Given the description of an element on the screen output the (x, y) to click on. 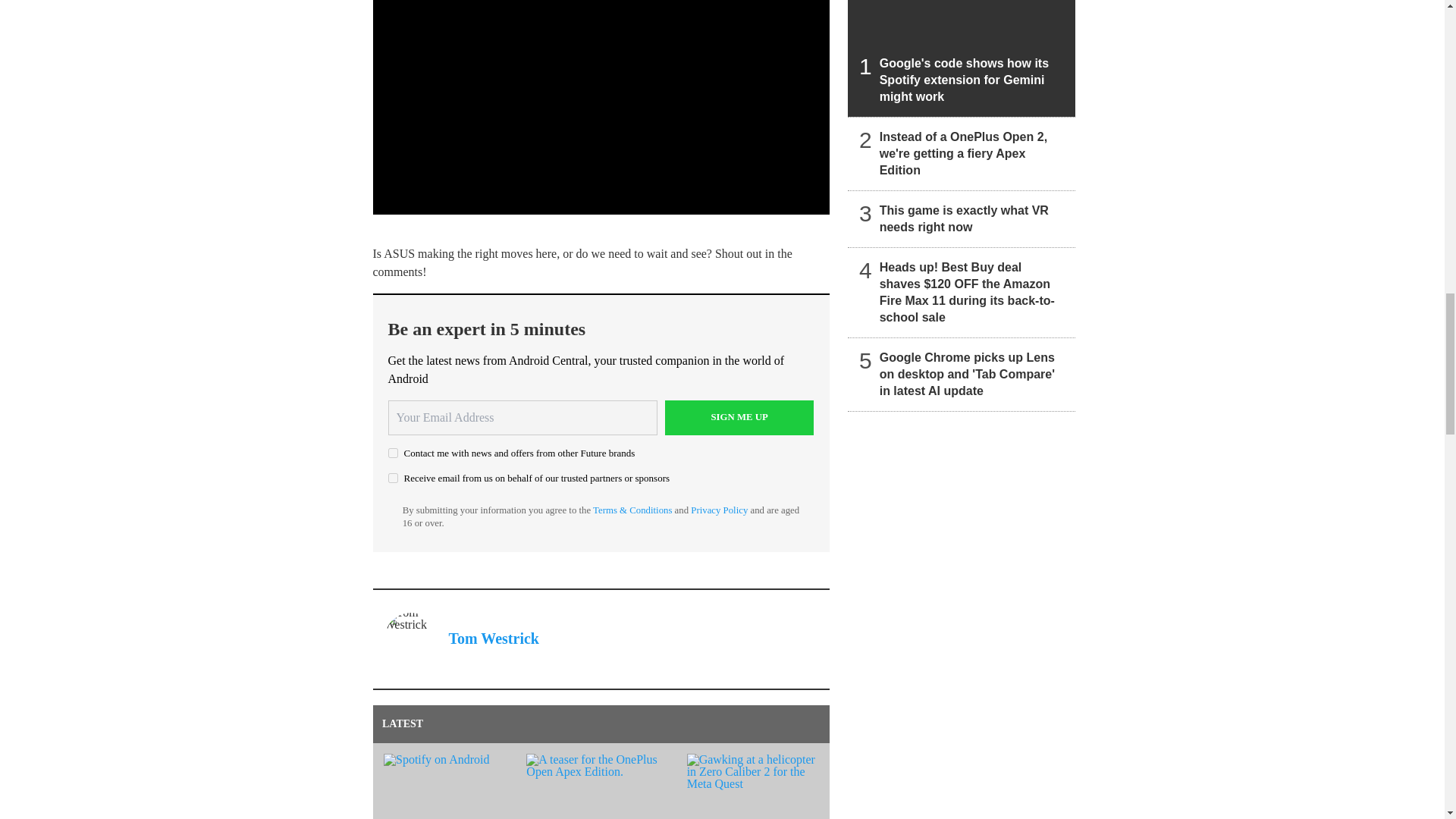
on (392, 478)
Sign me up (739, 417)
on (392, 452)
